Given the description of an element on the screen output the (x, y) to click on. 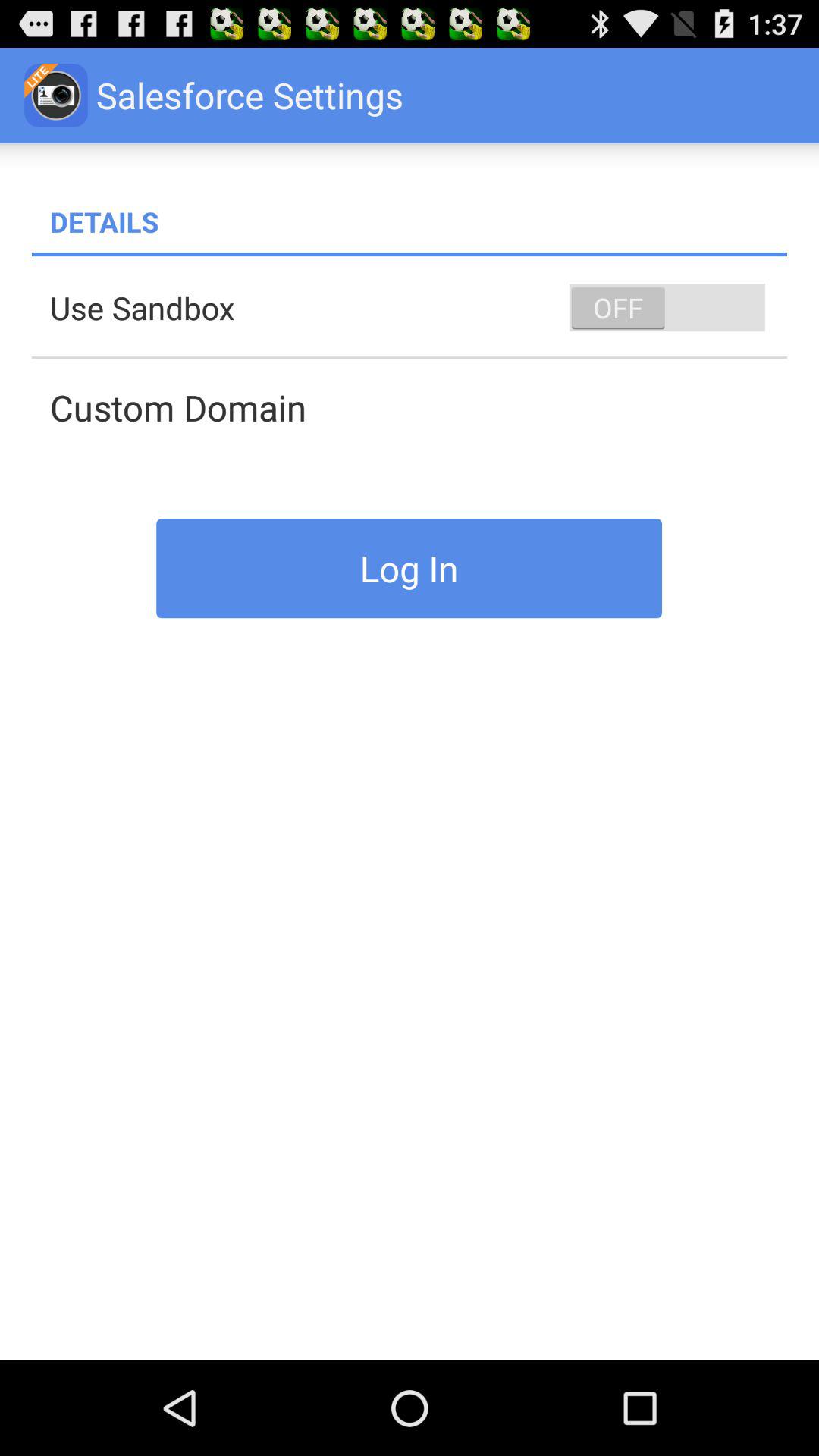
tap the app above custom domain icon (666, 307)
